Given the description of an element on the screen output the (x, y) to click on. 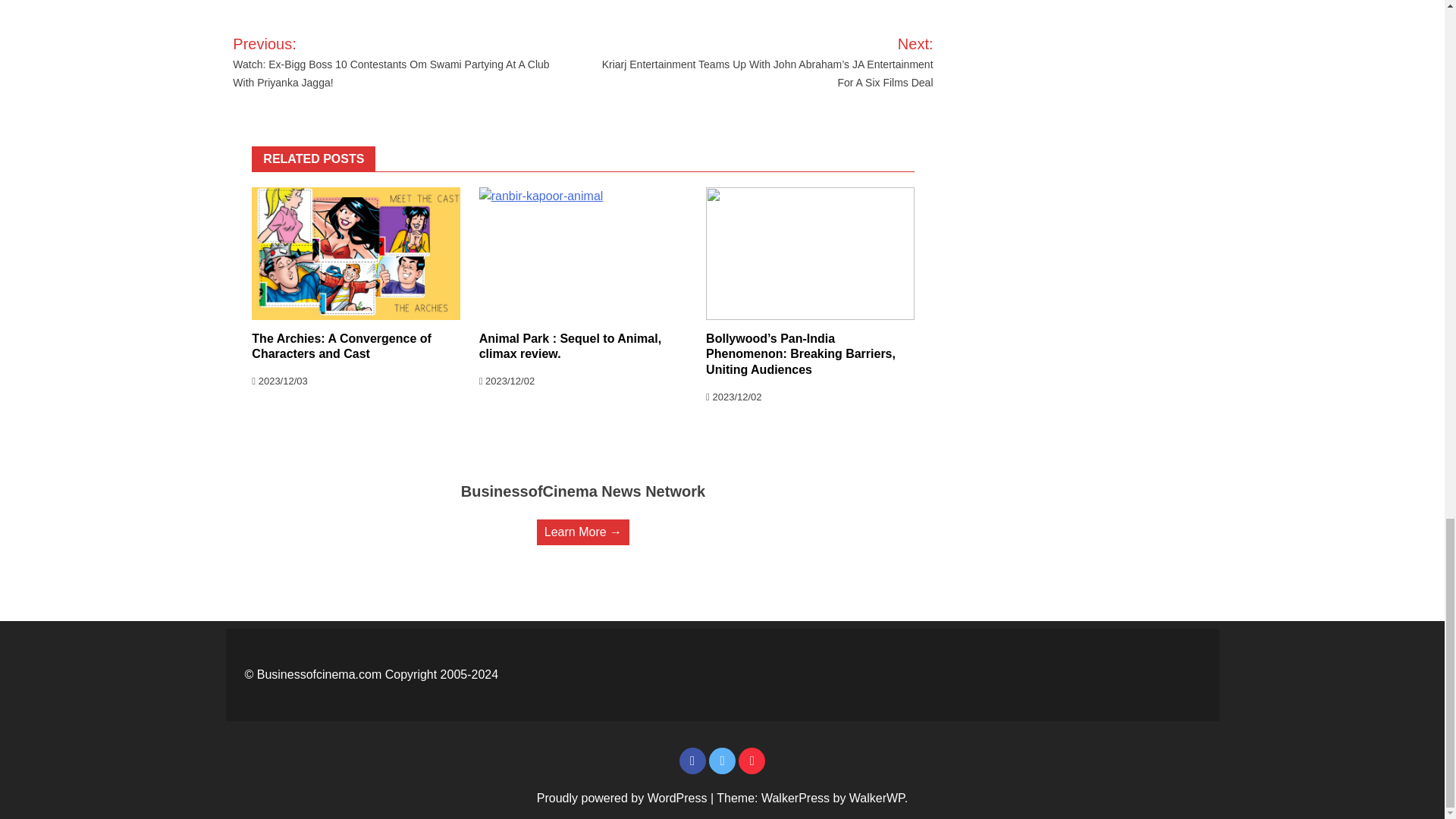
Animal Park : Sequel to Animal, climax review. (570, 346)
Proudly powered by WordPress (623, 797)
The Archies: A Convergence of Characters and Cast (340, 346)
